Given the description of an element on the screen output the (x, y) to click on. 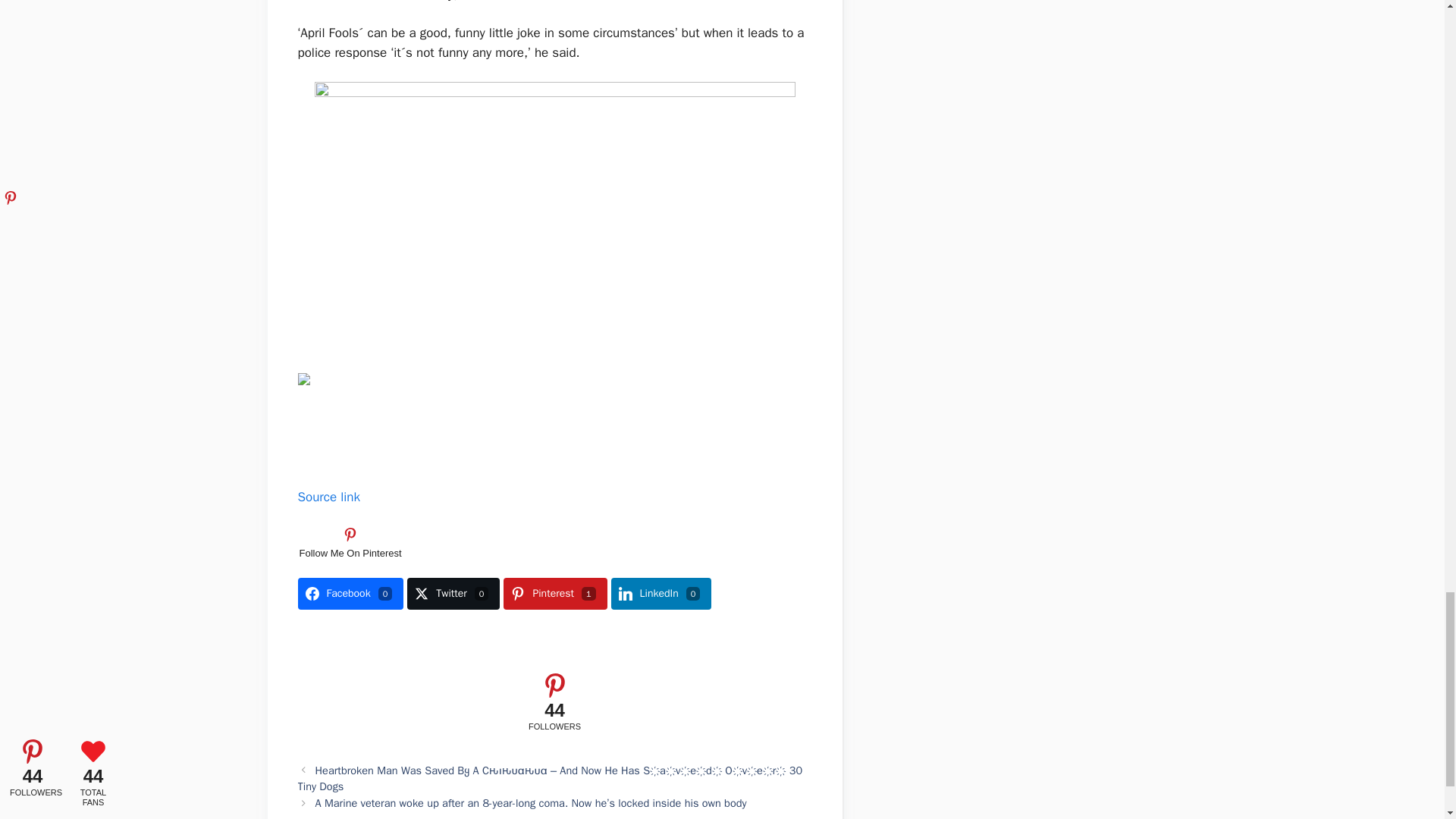
Source link (328, 496)
Pinterest1 (555, 593)
LinkedIn0 (661, 593)
Share on Twitter (453, 593)
Share on Facebook (350, 593)
Share on Pinterest (555, 593)
Facebook0 (350, 593)
Share on LinkedIn (661, 593)
Twitter0 (453, 593)
